Given the description of an element on the screen output the (x, y) to click on. 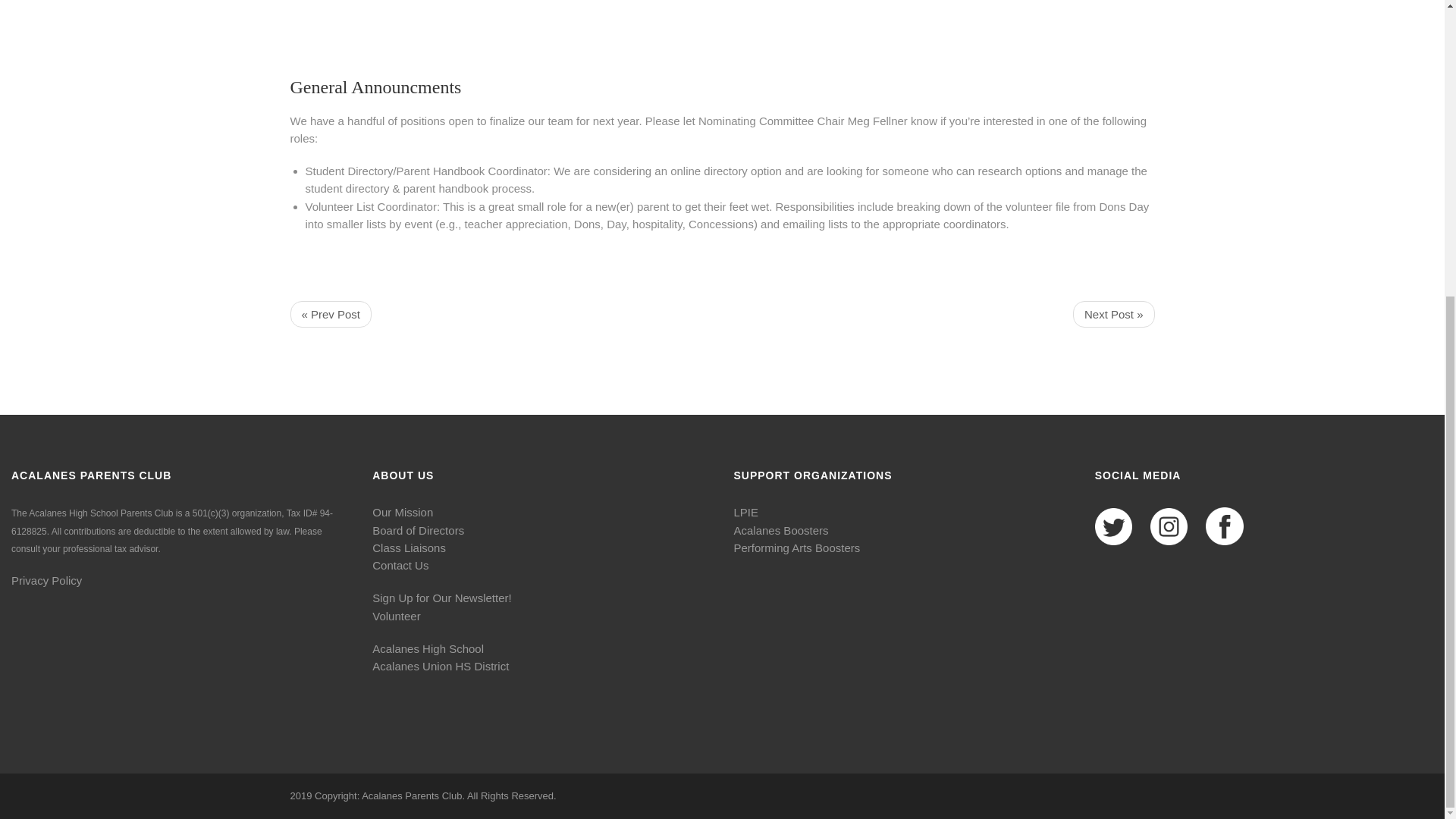
Privacy Policy (46, 580)
